Given the description of an element on the screen output the (x, y) to click on. 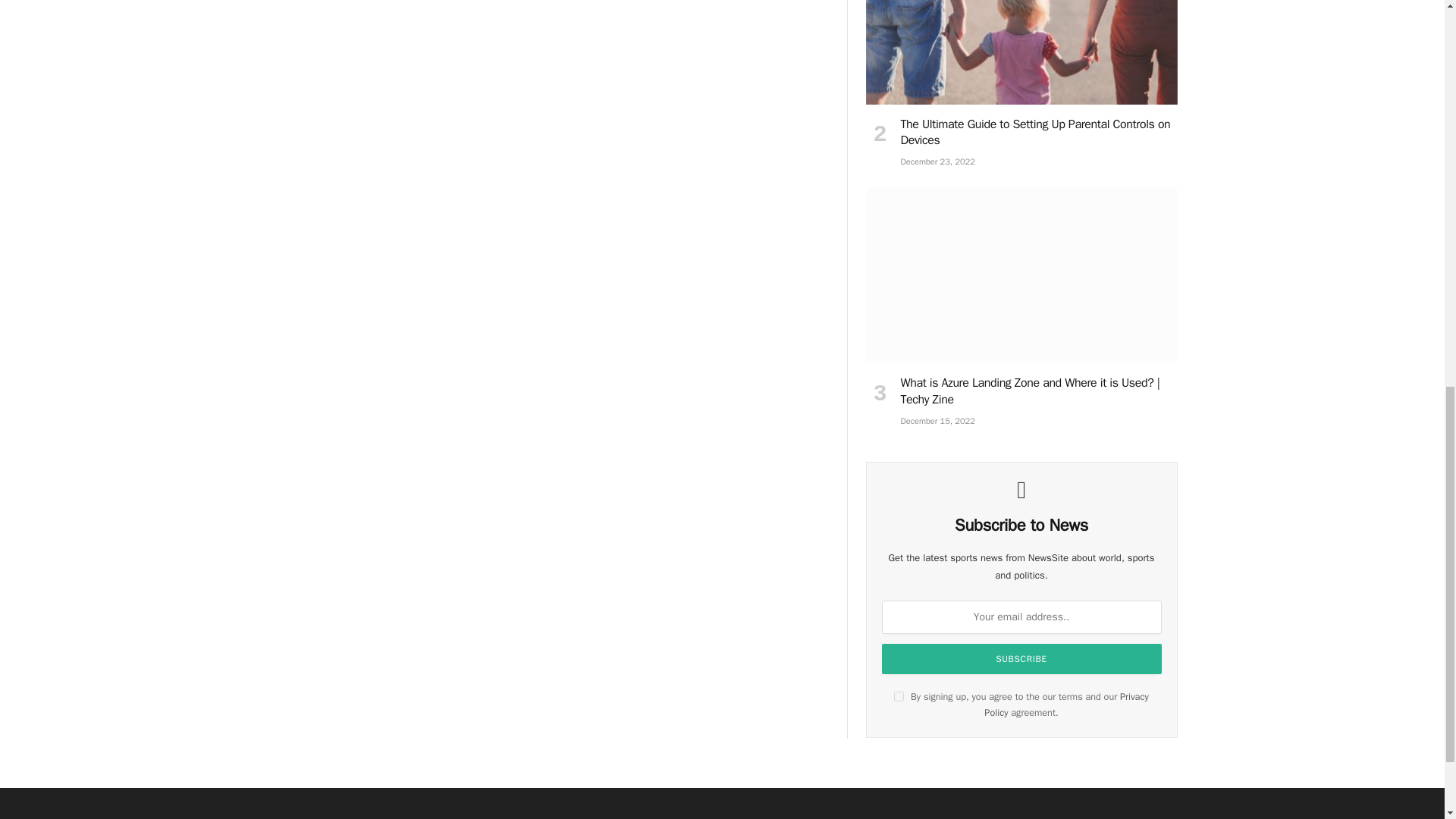
Privacy Policy (1066, 705)
Subscribe (1021, 658)
on (898, 696)
Subscribe (1021, 658)
